Given the description of an element on the screen output the (x, y) to click on. 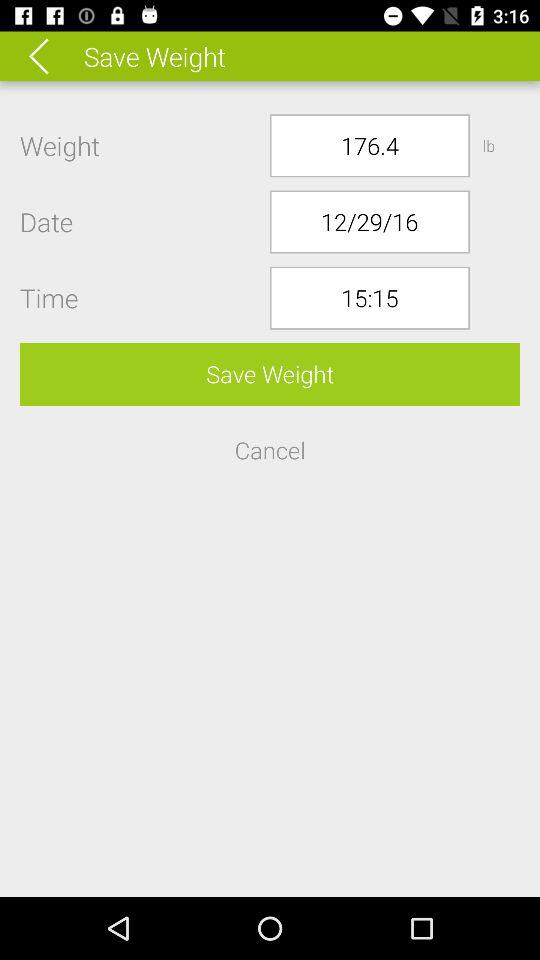
choose item next to the time icon (369, 297)
